Given the description of an element on the screen output the (x, y) to click on. 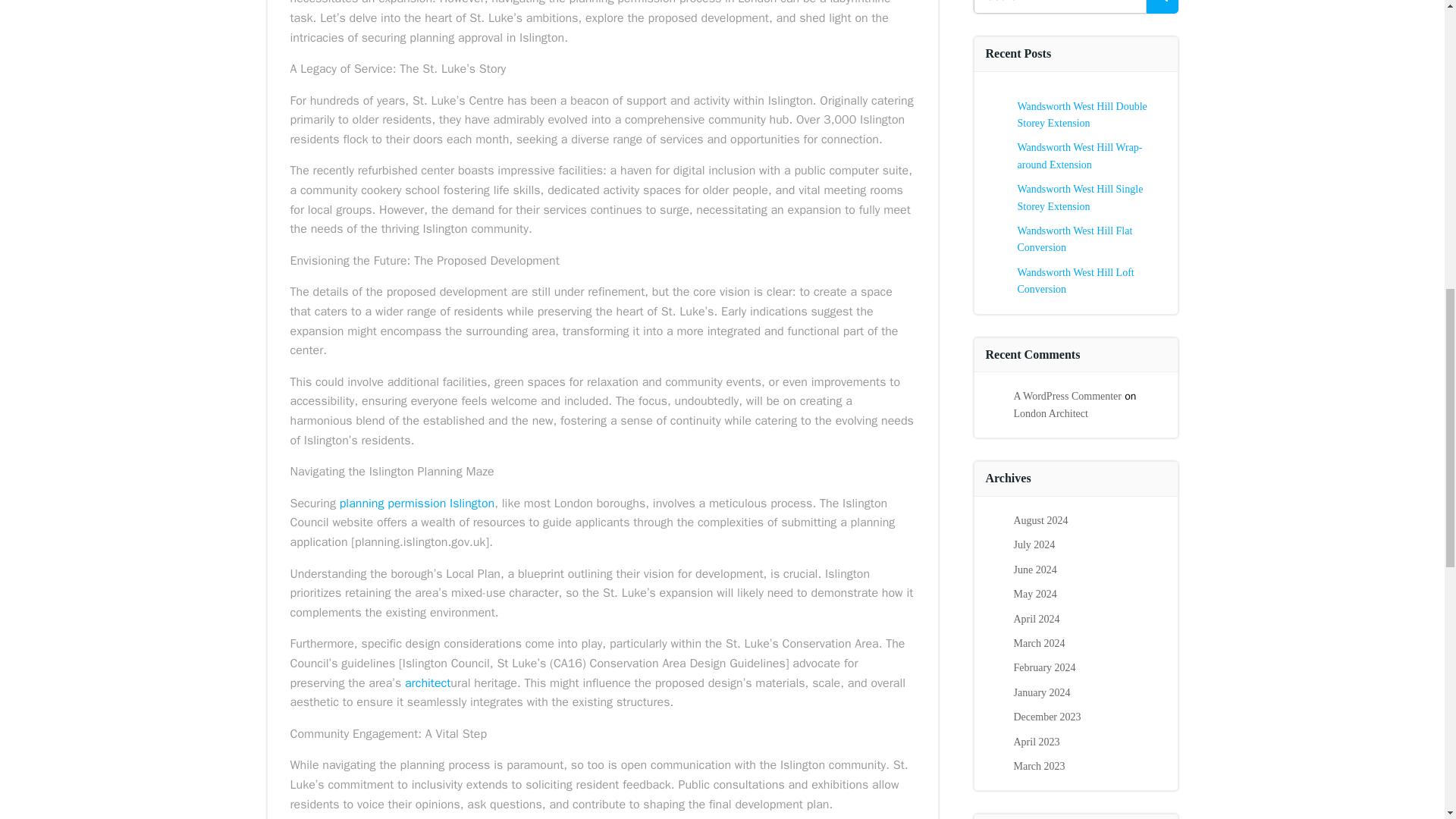
June 2024 (1035, 569)
Wandsworth West Hill Flat Conversion (1074, 239)
Wandsworth West Hill Double Storey Extension (1082, 114)
April 2024 (1036, 618)
May 2024 (1035, 593)
March 2024 (1038, 643)
architect (426, 683)
planning permission Islington (417, 503)
August 2024 (1040, 520)
Wandsworth West Hill Single Storey Extension (1079, 197)
